Given the description of an element on the screen output the (x, y) to click on. 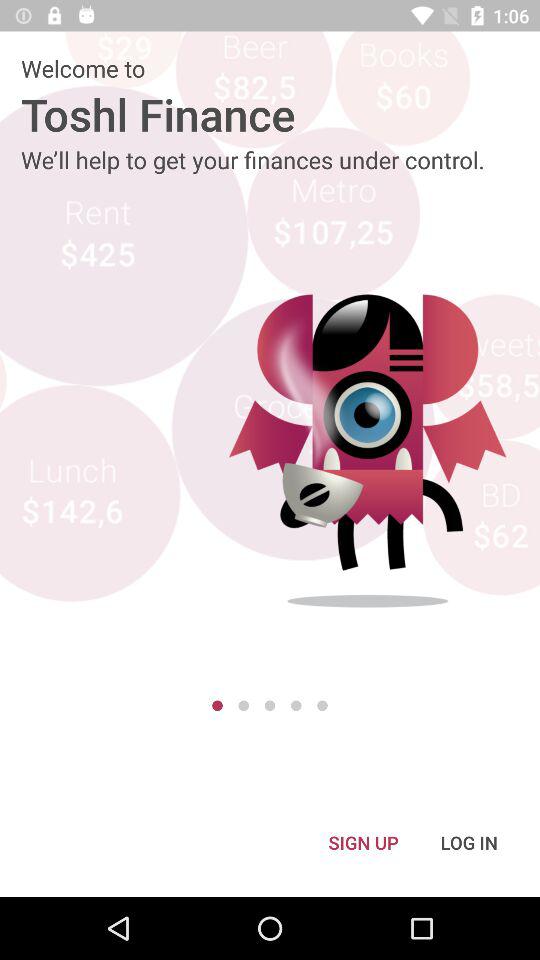
turn off the item next to log in (363, 842)
